Given the description of an element on the screen output the (x, y) to click on. 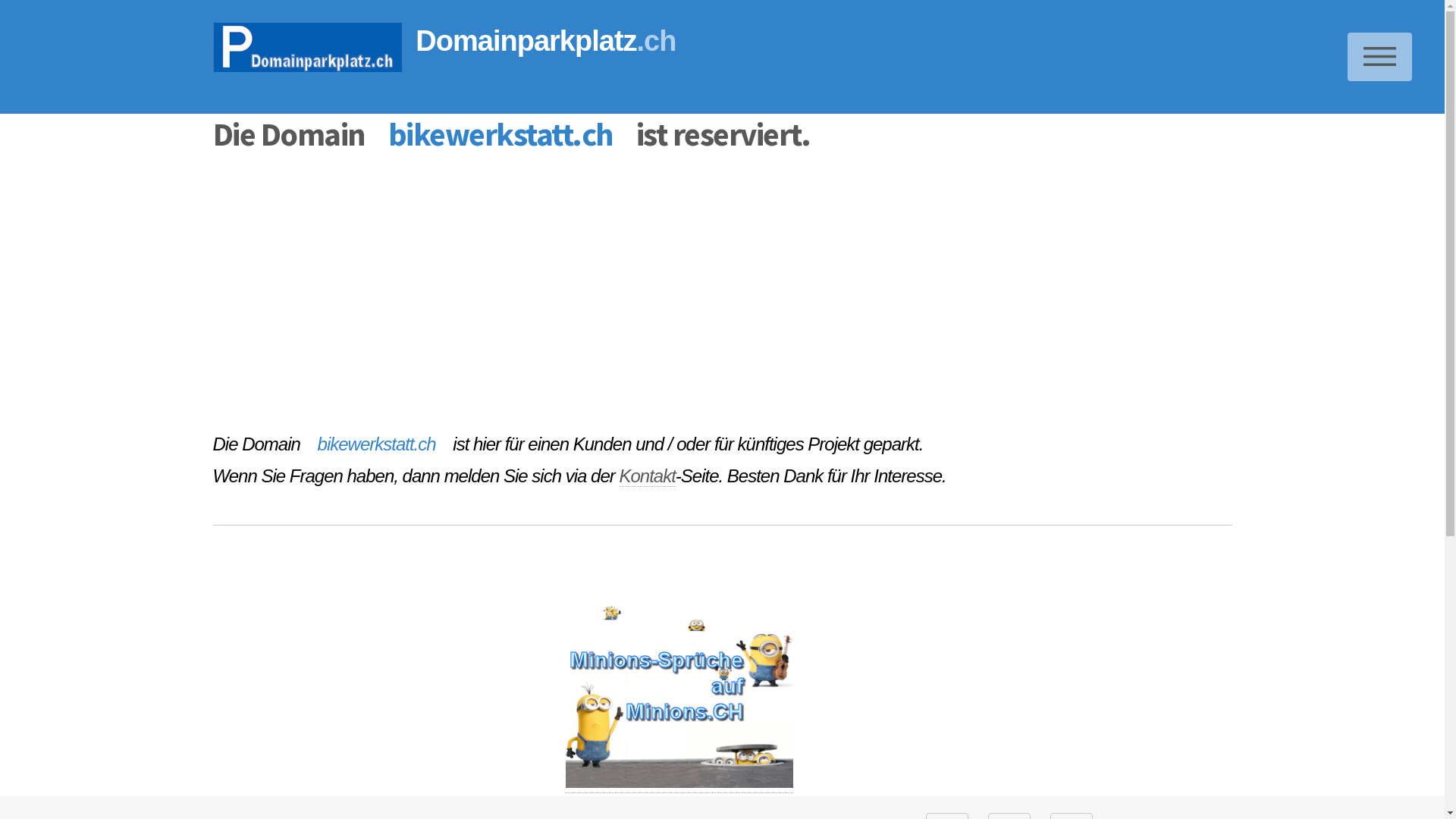
MENU Element type: text (1379, 56)
Kontakt Element type: text (646, 475)
Advertisement Element type: hover (325, 692)
Advertisement Element type: hover (1032, 692)
Advertisement Element type: hover (667, 294)
